Given the description of an element on the screen output the (x, y) to click on. 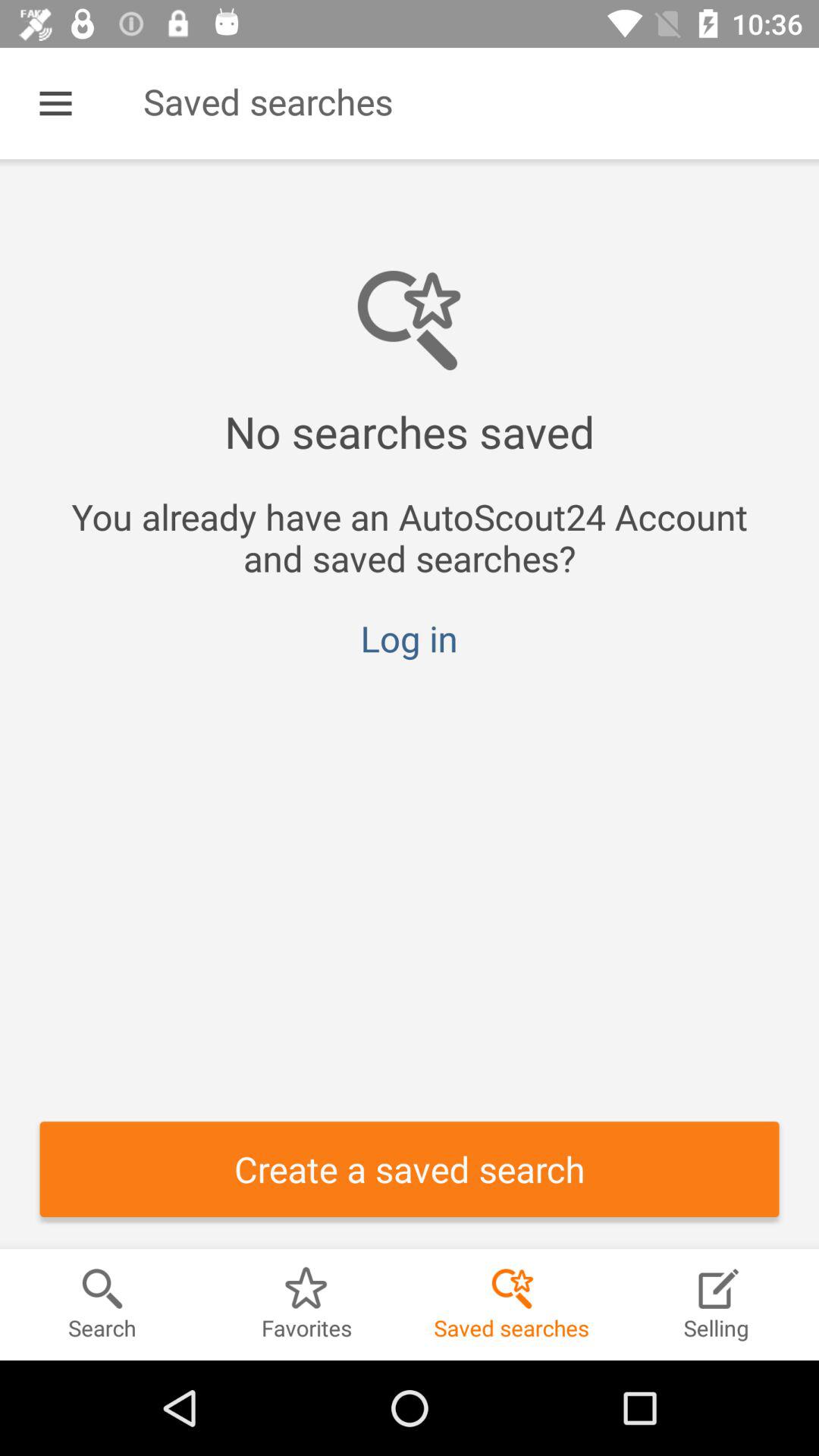
flip until log in (408, 638)
